Given the description of an element on the screen output the (x, y) to click on. 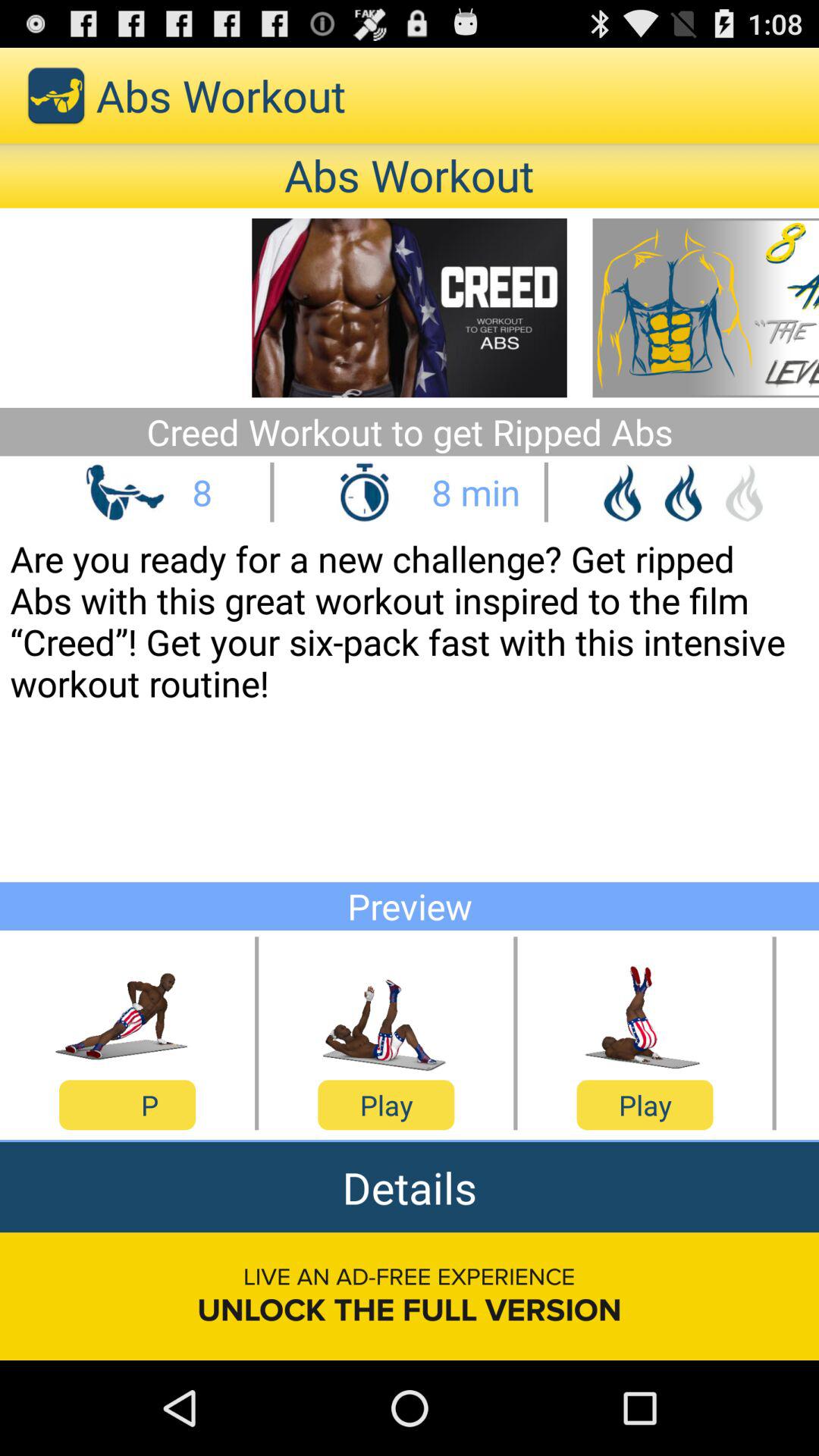
turn on the item above live an ad (409, 1187)
